Given the description of an element on the screen output the (x, y) to click on. 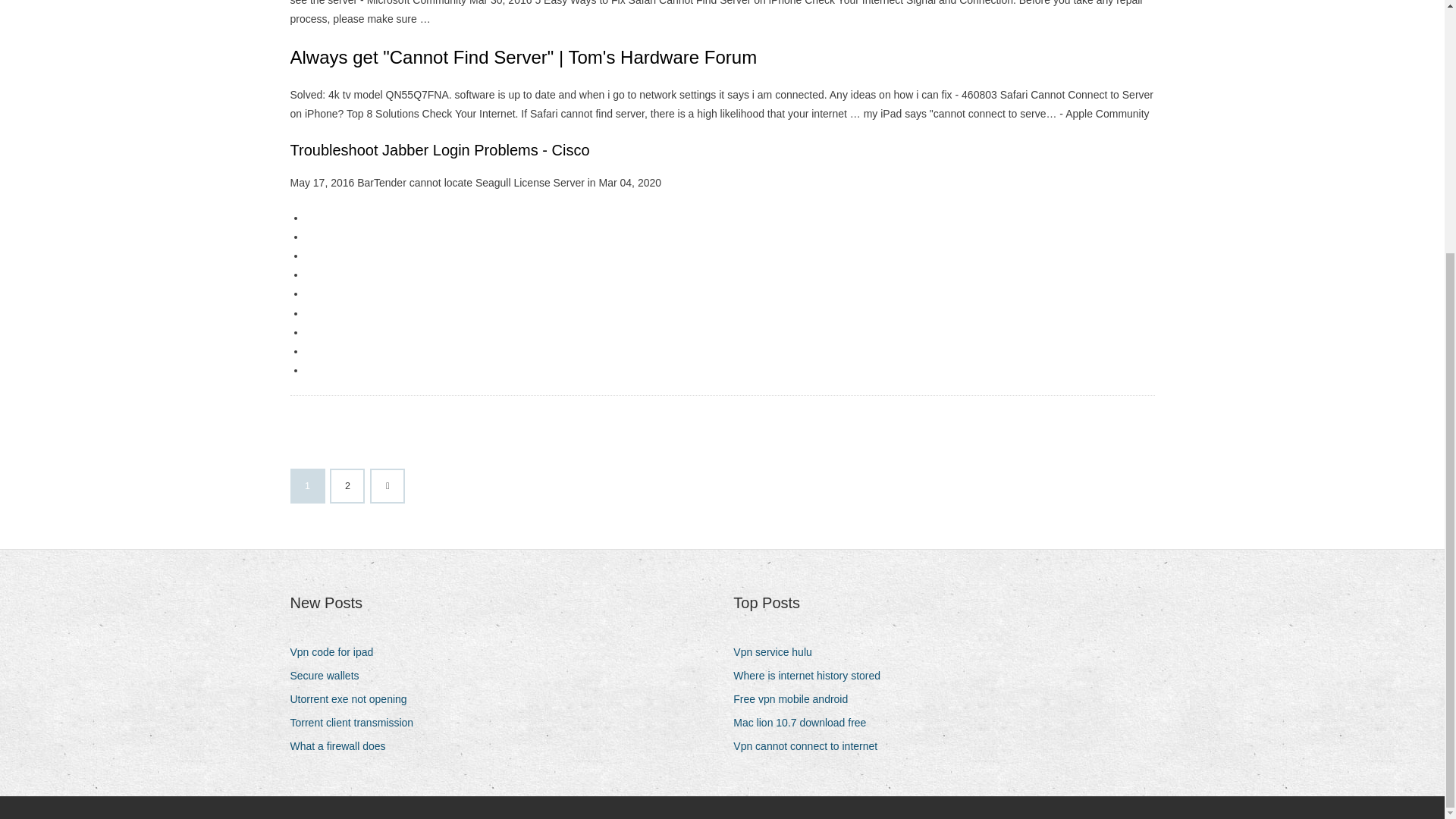
Utorrent exe not opening (353, 699)
2 (346, 486)
Free vpn mobile android (796, 699)
What a firewall does (342, 746)
Where is internet history stored (812, 675)
Vpn code for ipad (336, 652)
Torrent client transmission (357, 722)
Mac lion 10.7 download free (805, 722)
Secure wallets (329, 675)
Vpn cannot connect to internet (810, 746)
Vpn service hulu (778, 652)
